Given the description of an element on the screen output the (x, y) to click on. 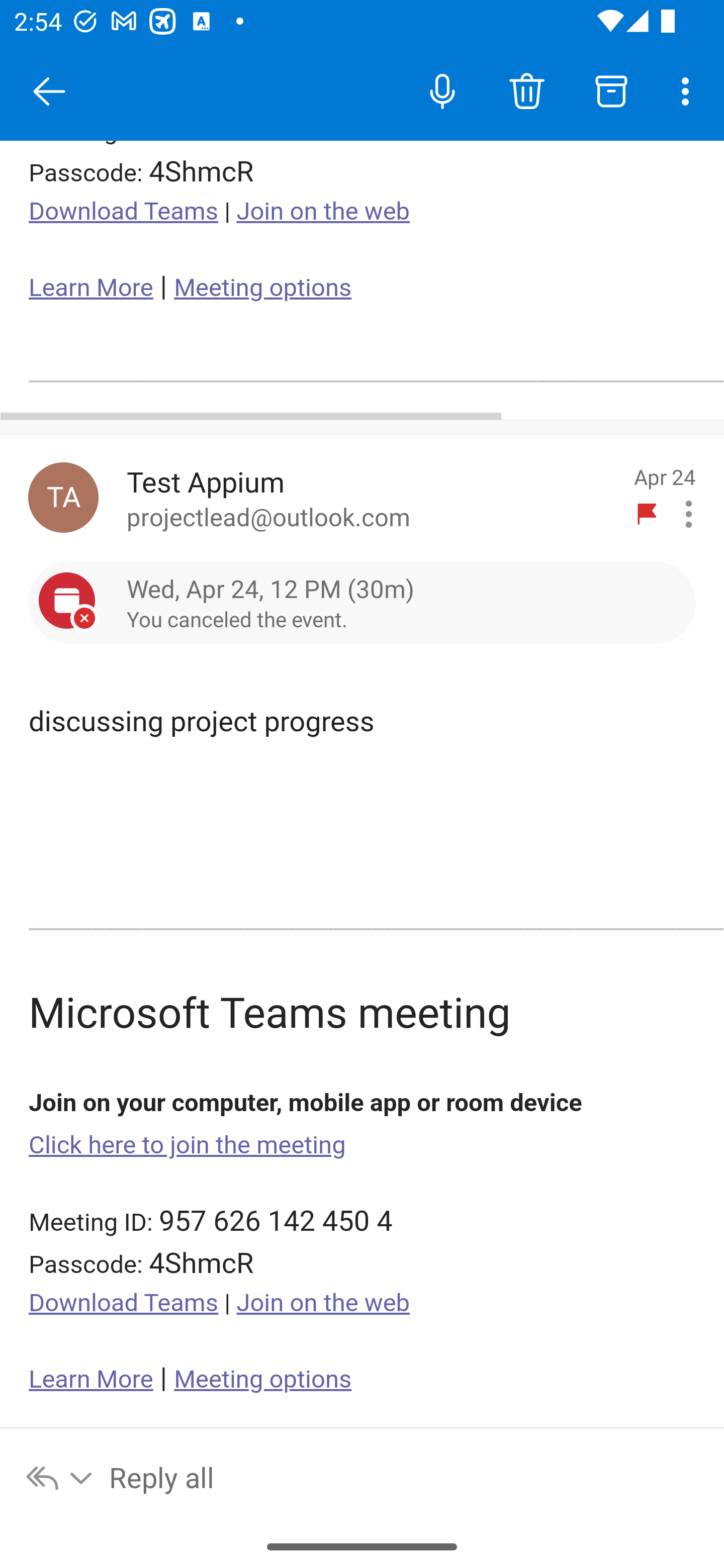
Close (49, 91)
Delete (526, 90)
Archive (611, 90)
More options (688, 90)
Download Teams (124, 210)
Join on the web (323, 210)
Learn More (90, 287)
Meeting options (262, 287)
Test Appium, testappium002@outlook.com (63, 497)
Test Appium
to projectlead@outlook.com (372, 497)
Message actions (688, 513)
Click here to join the meeting (187, 1144)
Download Teams (124, 1302)
Join on the web (323, 1302)
Learn More (90, 1379)
Meeting options (262, 1379)
Reply options (59, 1476)
